Given the description of an element on the screen output the (x, y) to click on. 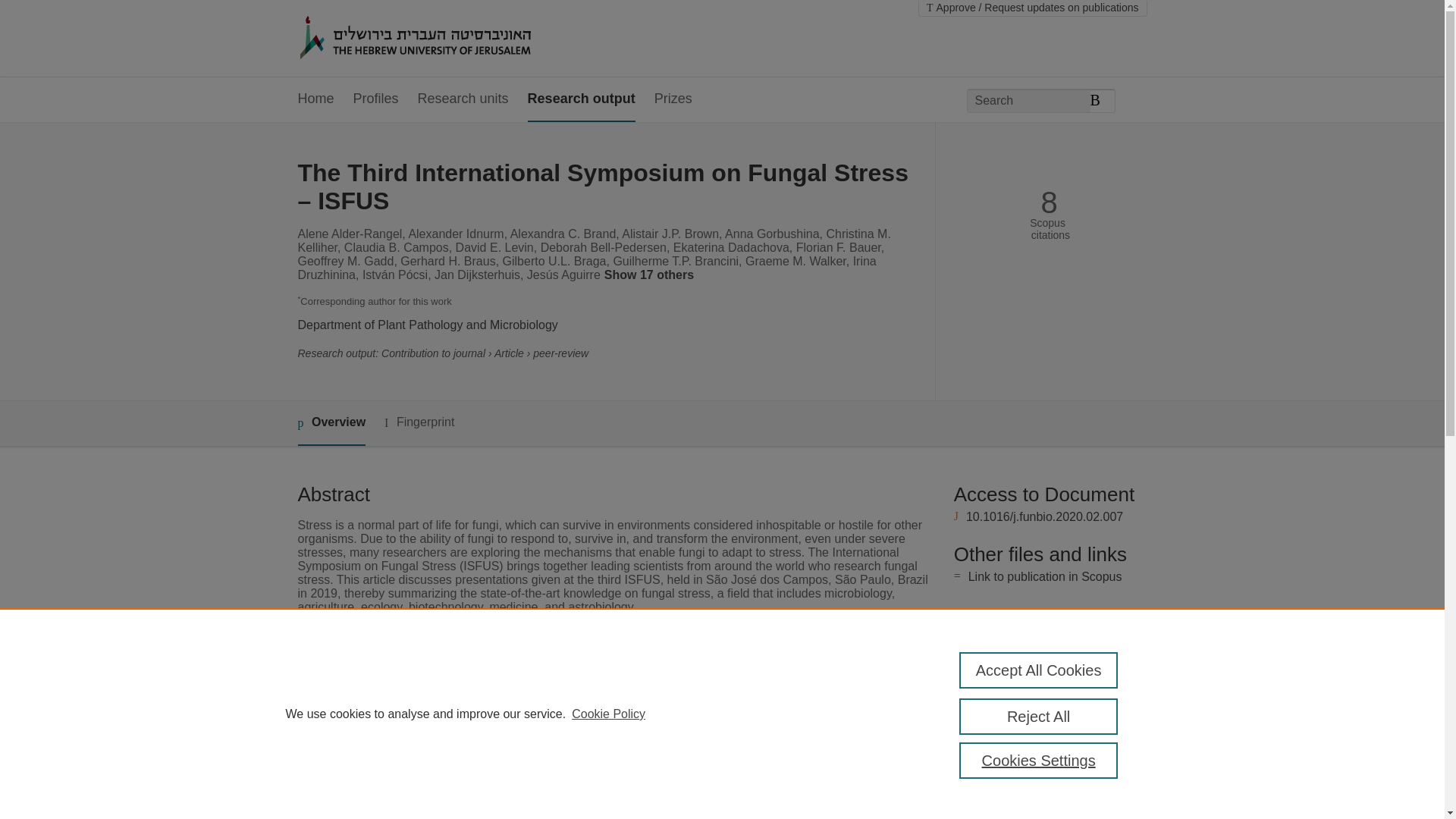
Department of Plant Pathology and Microbiology (427, 324)
Profiles (375, 99)
Overview (331, 423)
Link to publication in Scopus (1045, 576)
Fungal Biology (551, 697)
Show 17 others (651, 275)
The Hebrew University of Jerusalem Home (447, 38)
Research units (462, 99)
Cookie Policy (608, 713)
